Given the description of an element on the screen output the (x, y) to click on. 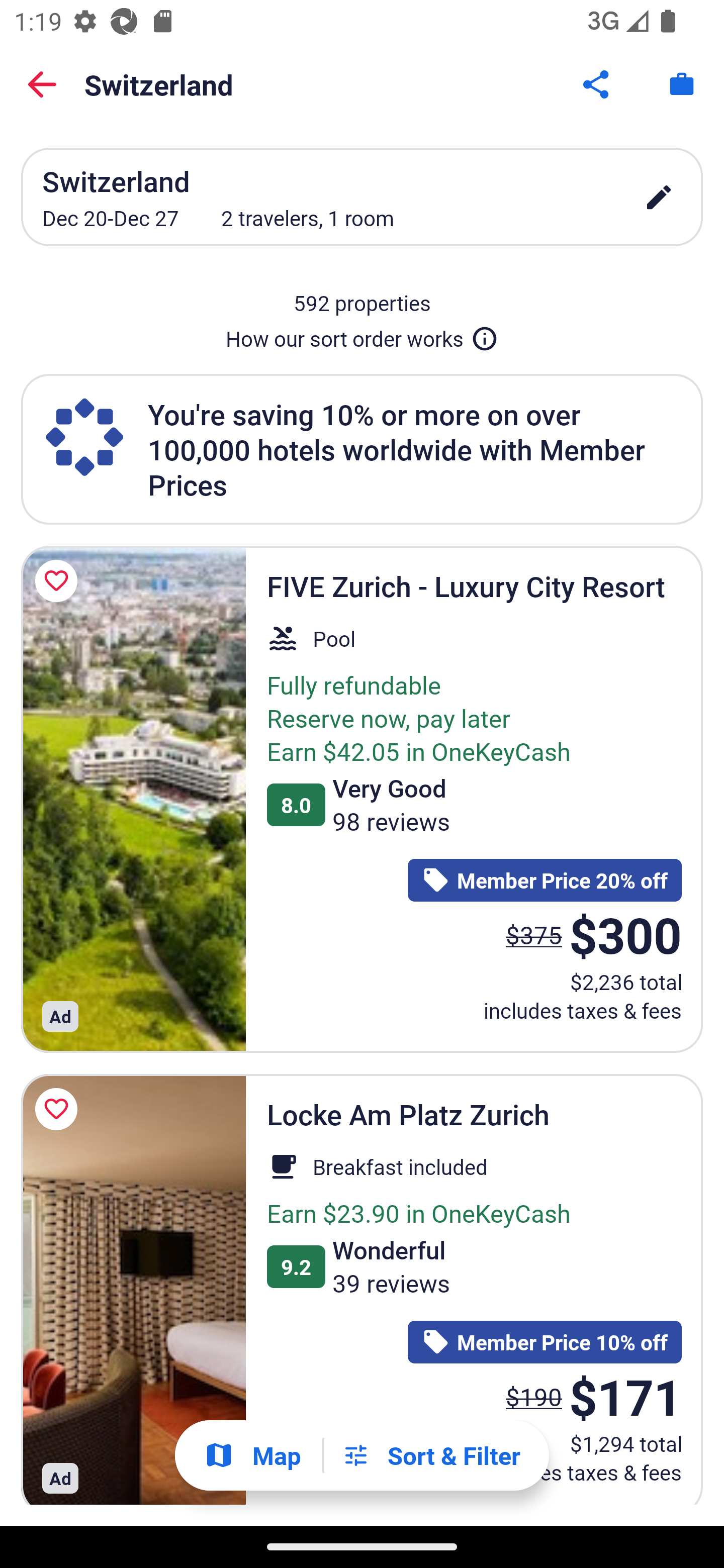
Back (42, 84)
Share Button (597, 84)
Trips. Button (681, 84)
Switzerland Dec 20-Dec 27 2 travelers, 1 room edit (361, 196)
How our sort order works (361, 334)
Save FIVE Zurich - Luxury City Resort to a trip (59, 580)
FIVE Zurich - Luxury City Resort (133, 798)
$375 The price was $375 (533, 934)
Save Locke Am Platz Zurich to a trip (59, 1108)
Locke Am Platz Zurich (133, 1289)
$190 The price was $190 (533, 1396)
Filters Sort & Filter Filters Button (430, 1455)
Show map Map Show map Button (252, 1455)
